Given the description of an element on the screen output the (x, y) to click on. 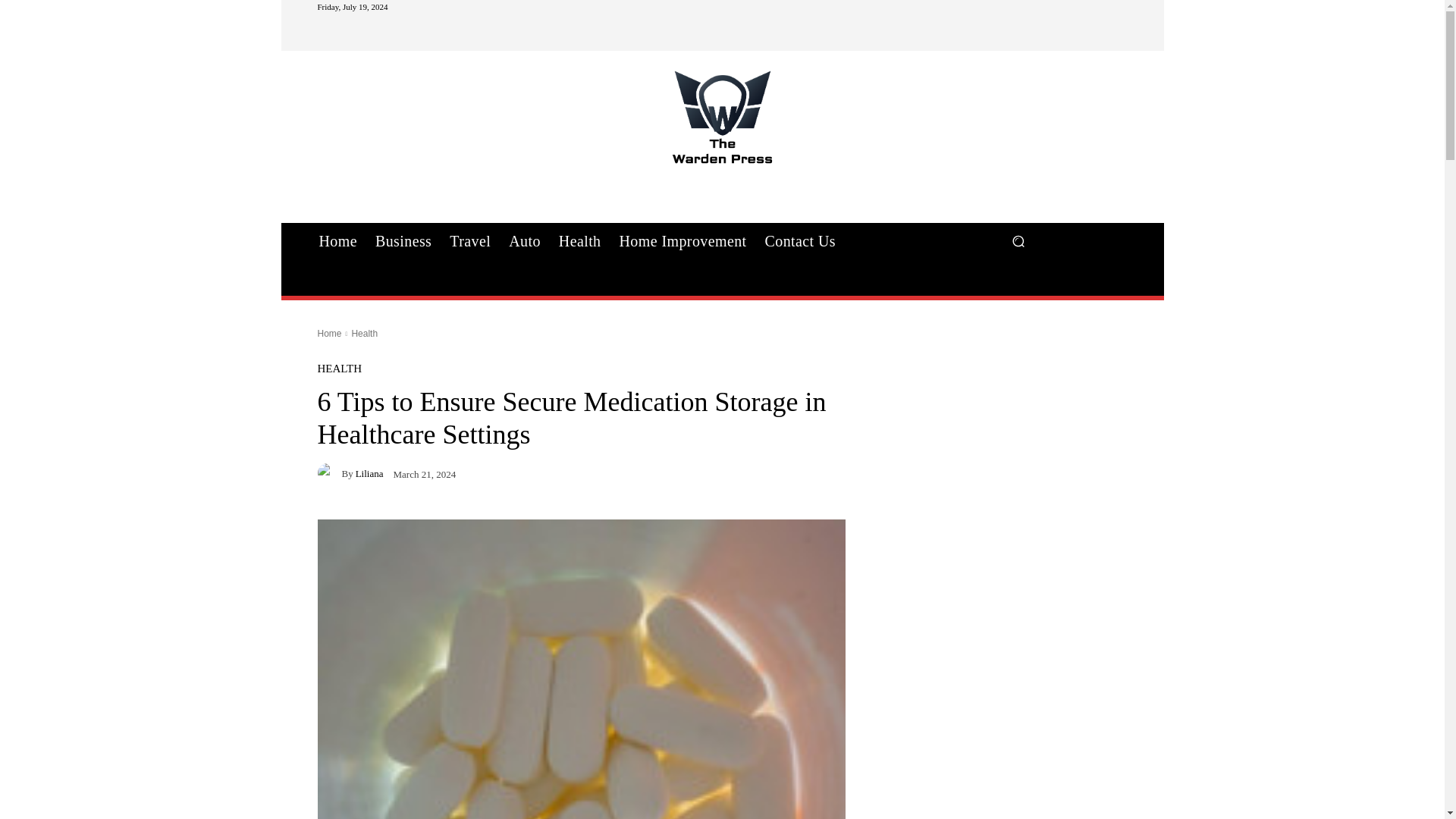
Contact Us (799, 240)
Home (336, 240)
Auto (524, 240)
Home (328, 333)
Health (580, 240)
Business (403, 240)
Liliana (328, 473)
Liliana (369, 473)
HEALTH (339, 368)
View all posts in Health (363, 333)
Travel (470, 240)
Home Improvement (682, 240)
Health (363, 333)
